Given the description of an element on the screen output the (x, y) to click on. 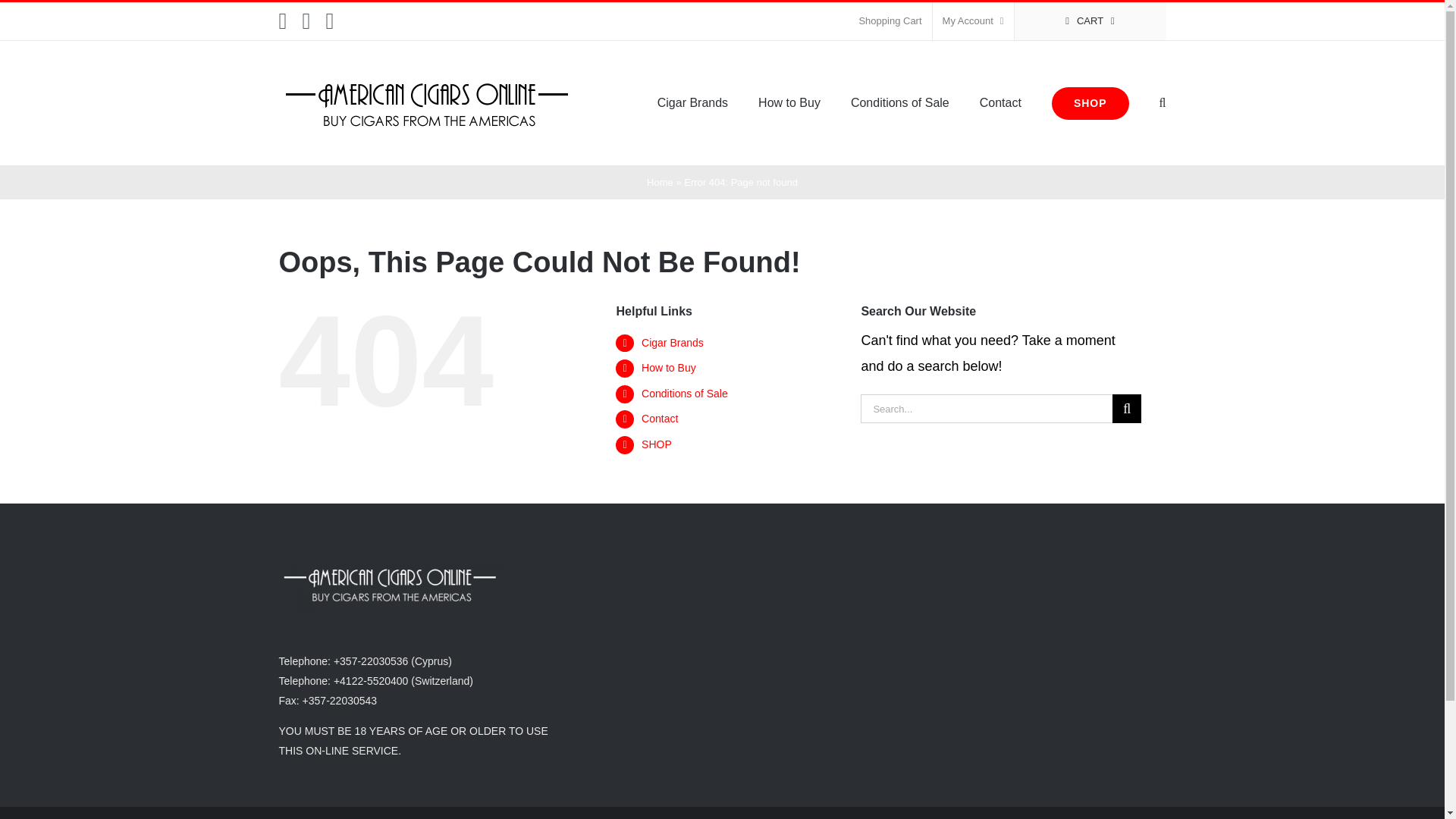
SHOP (656, 444)
Log In (1034, 165)
Shopping Cart (889, 21)
CART (1090, 21)
How to Buy (668, 367)
Contact (660, 418)
Cigar Brands (672, 342)
My Account (973, 21)
Conditions of Sale (685, 393)
Home (659, 182)
